Given the description of an element on the screen output the (x, y) to click on. 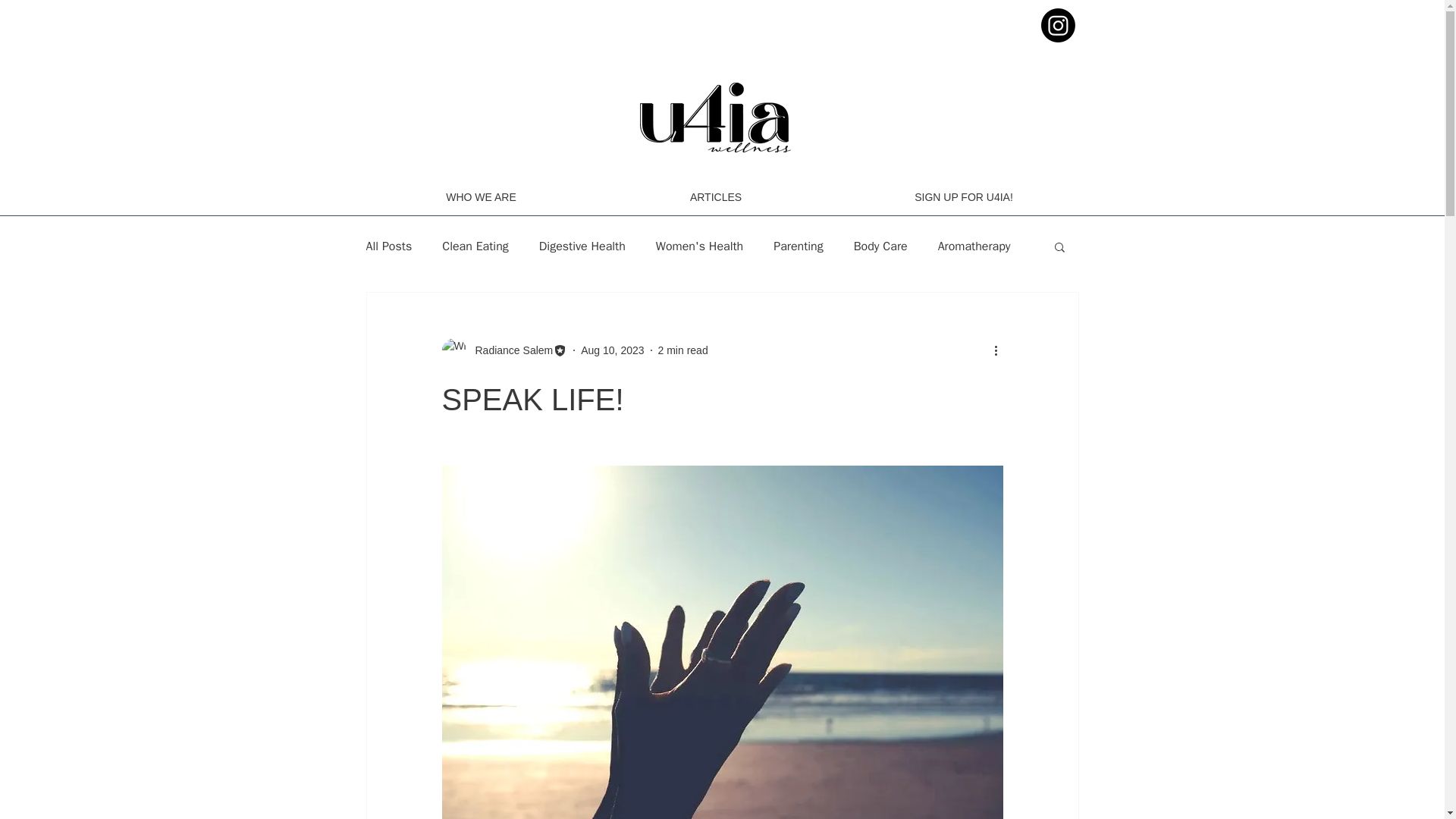
WHO WE ARE (481, 197)
Parenting (798, 245)
Aromatherapy (973, 245)
Aug 10, 2023 (611, 349)
Clean Eating (475, 245)
Radiance Salem (509, 350)
Digestive Health (582, 245)
SIGN UP FOR U4IA! (963, 197)
Radiance Salem (504, 350)
Body Care (880, 245)
ARTICLES (716, 197)
2 min read (682, 349)
Women's Health (699, 245)
All Posts (388, 245)
